Given the description of an element on the screen output the (x, y) to click on. 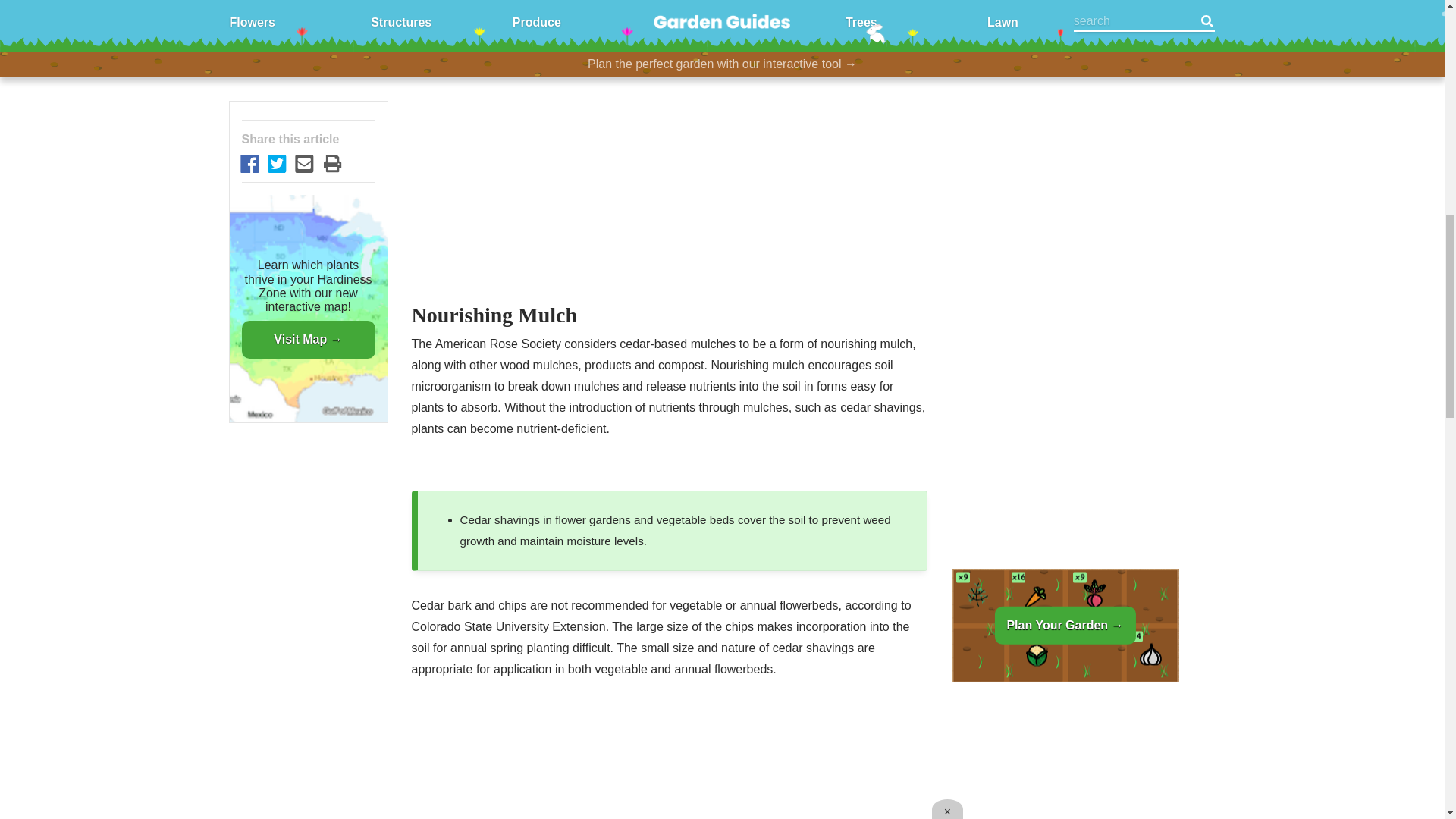
3rd party ad content (1063, 48)
3rd party ad content (668, 24)
3rd party ad content (668, 761)
